Given the description of an element on the screen output the (x, y) to click on. 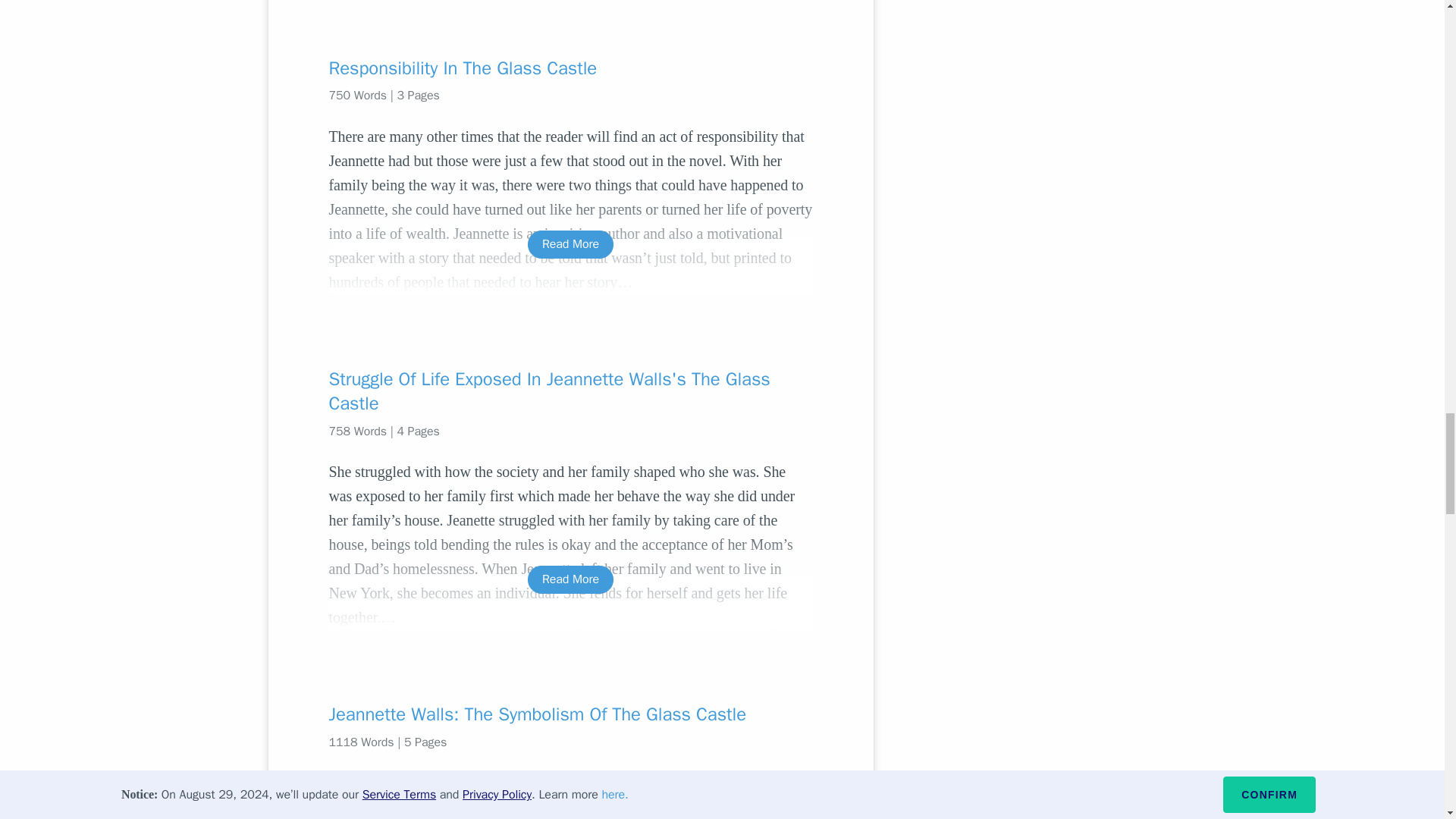
Jeannette Walls: The Symbolism Of The Glass Castle (570, 713)
Read More (569, 579)
Read More (569, 244)
Responsibility In The Glass Castle (570, 68)
